Given the description of an element on the screen output the (x, y) to click on. 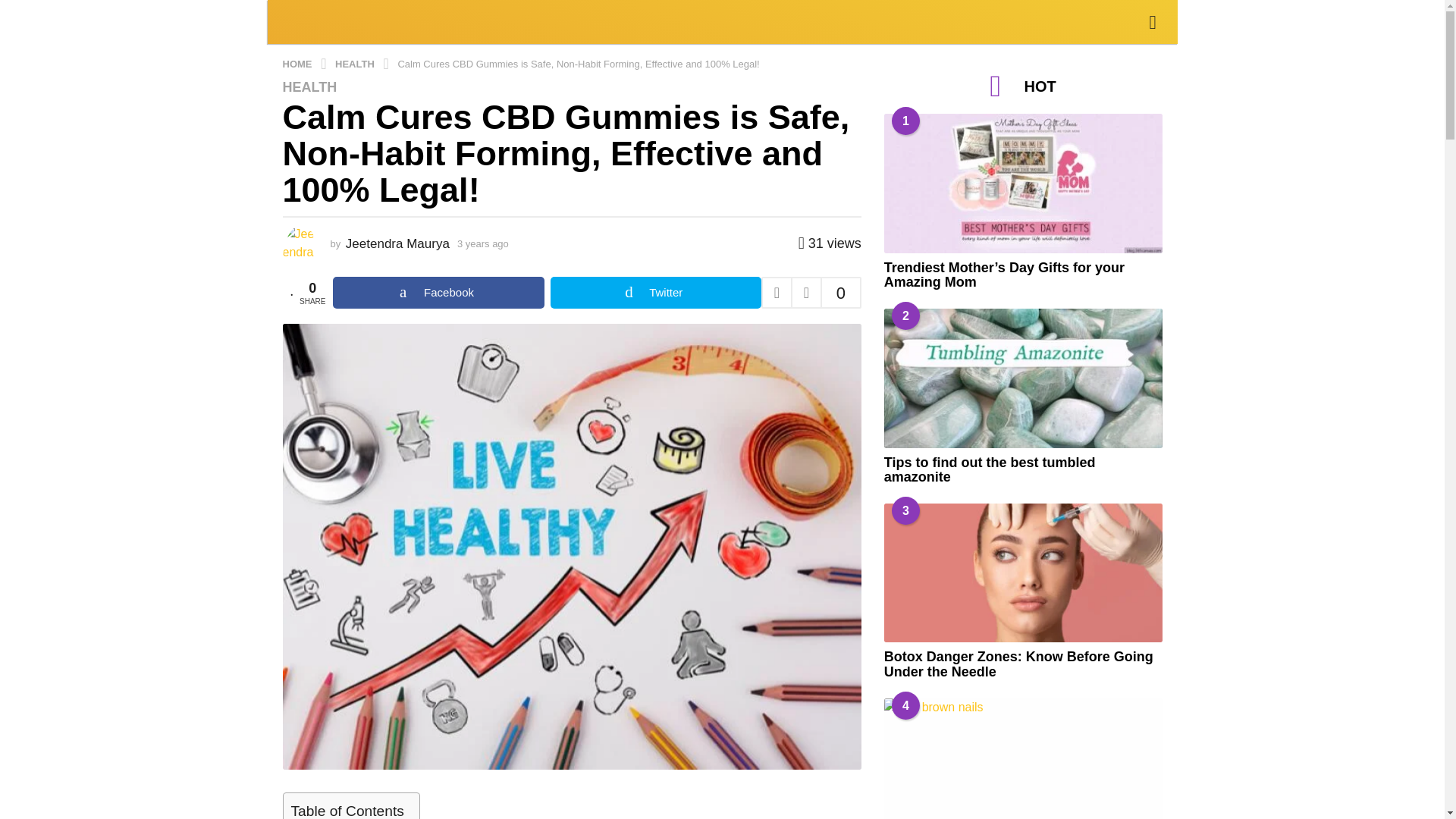
HOME (298, 62)
Share on Twitter (655, 292)
Jeetendra Maurya (397, 243)
HEALTH (309, 87)
Share on Facebook (438, 292)
HEALTH (355, 62)
Facebook (438, 292)
Twitter (655, 292)
